Given the description of an element on the screen output the (x, y) to click on. 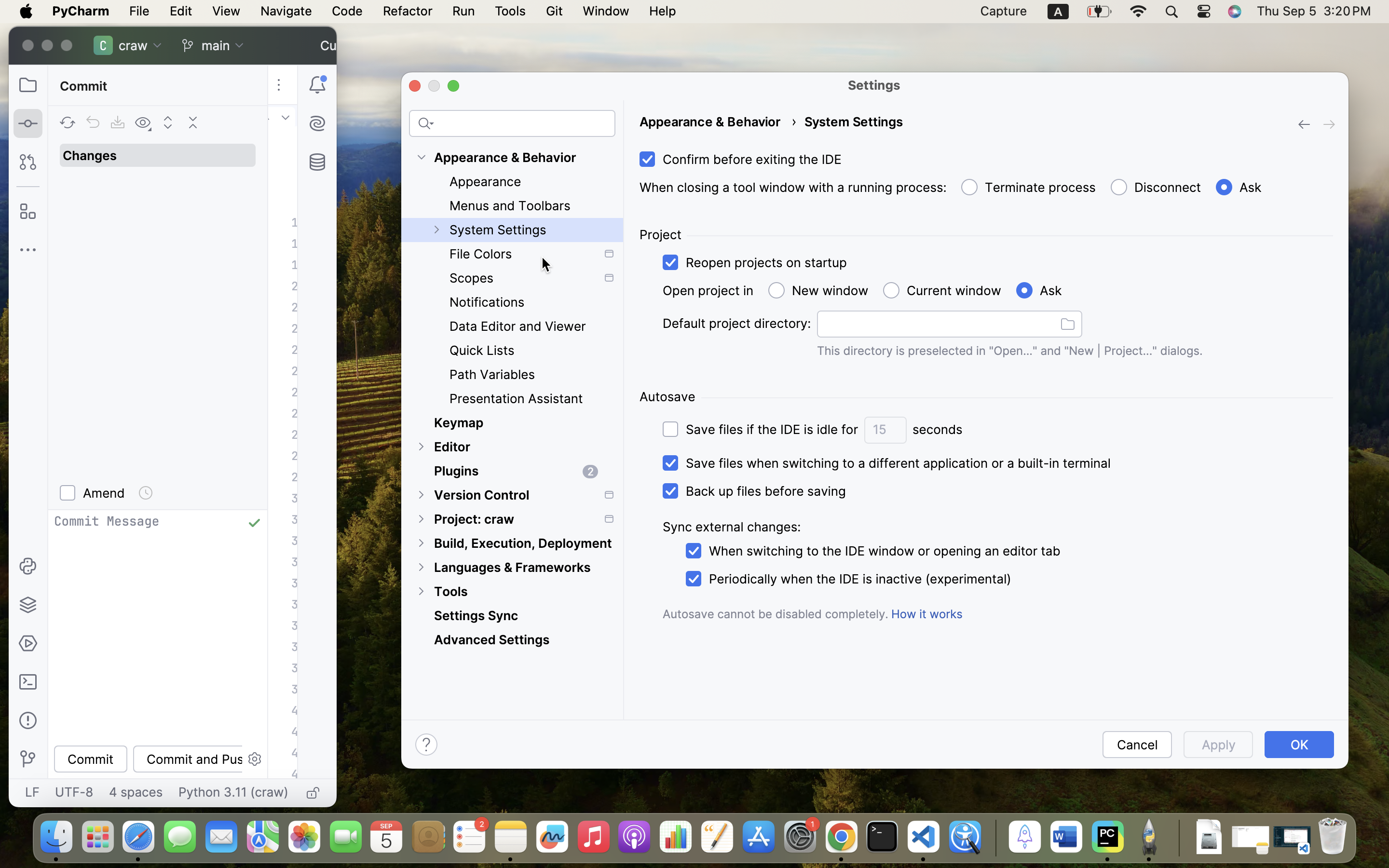
1 Element type: AXRadioButton (1236, 187)
Settings Element type: AXStaticText (873, 84)
0 Element type: AXCheckBox (758, 429)
Open project in Element type: AXStaticText (707, 290)
1 Element type: AXCheckBox (884, 463)
